Given the description of an element on the screen output the (x, y) to click on. 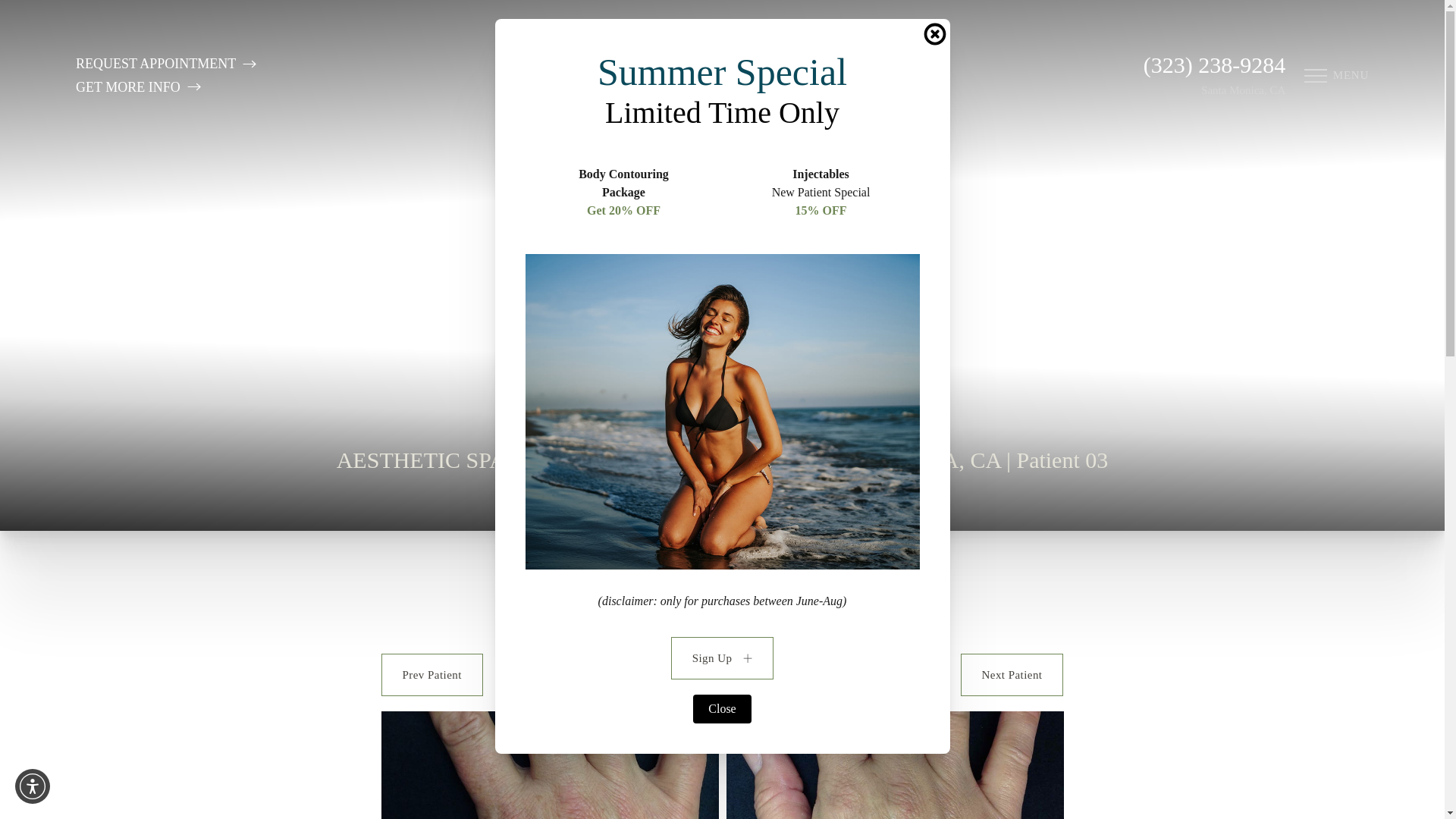
GET MORE INFO (165, 87)
REQUEST APPOINTMENT (165, 63)
